Given the description of an element on the screen output the (x, y) to click on. 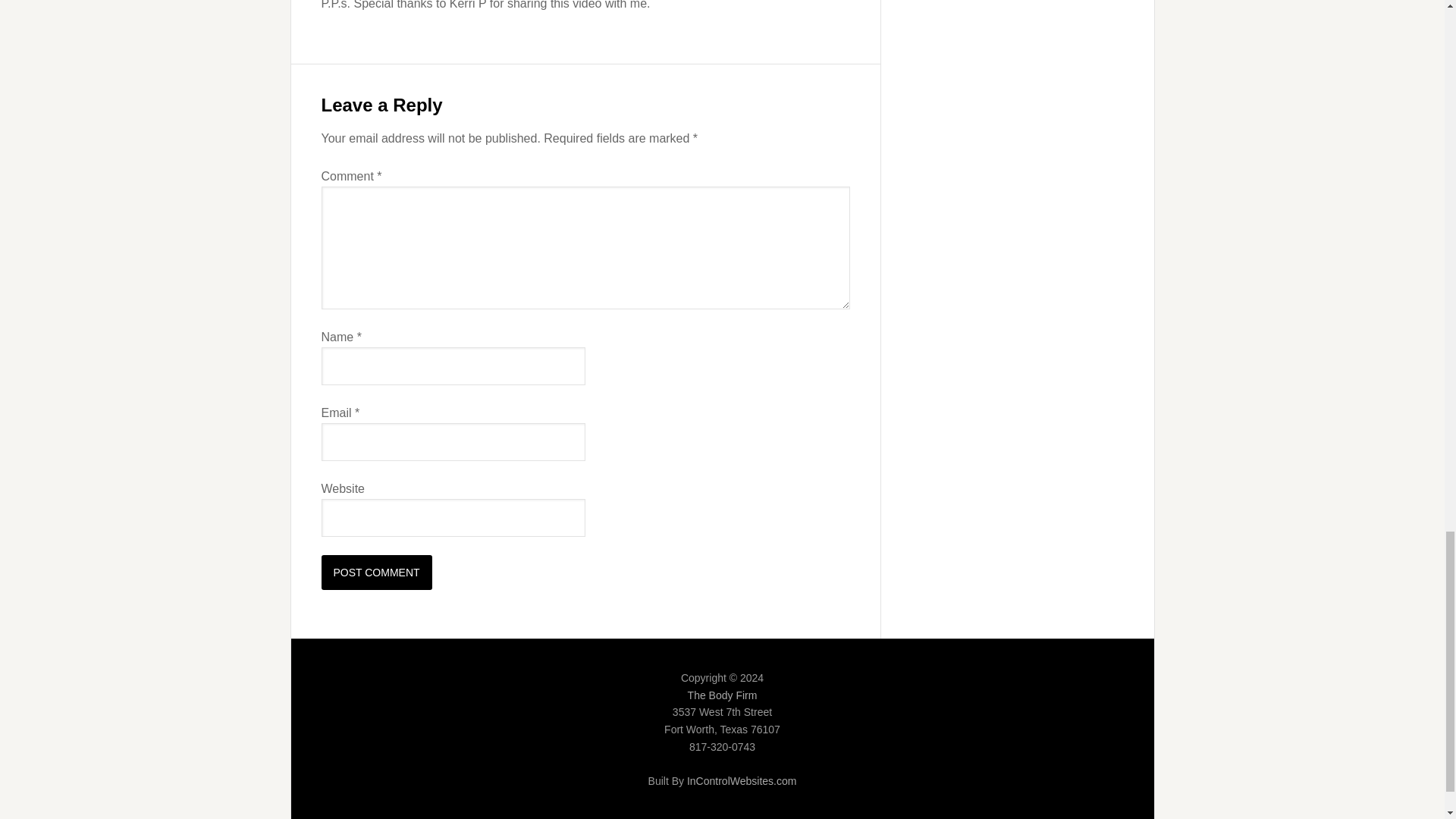
The Body Firm (722, 695)
Post Comment (376, 572)
Post Comment (376, 572)
InControlWebsites.com (741, 780)
